Given the description of an element on the screen output the (x, y) to click on. 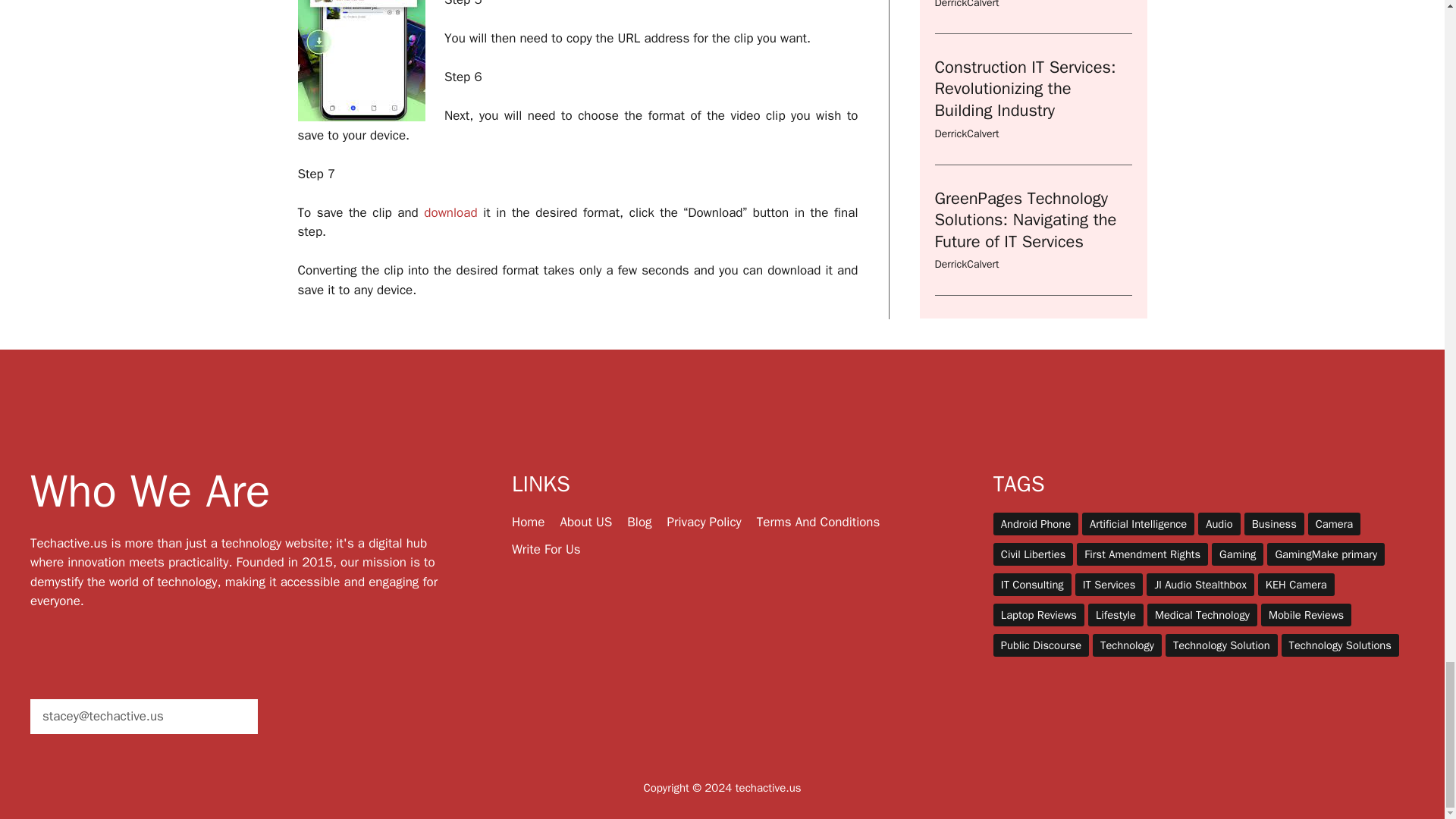
Civil Liberties (1032, 553)
Business (1274, 523)
Artificial Intelligence (1137, 523)
IT Consulting (1031, 584)
Terms And Conditions (818, 521)
Camera (1333, 523)
Blog (638, 521)
download (450, 212)
Write For Us (546, 549)
Gaming (1237, 553)
Privacy Policy (703, 521)
Home (528, 521)
First Amendment Rights (1142, 553)
GamingMake primary (1325, 553)
About US (585, 521)
